Given the description of an element on the screen output the (x, y) to click on. 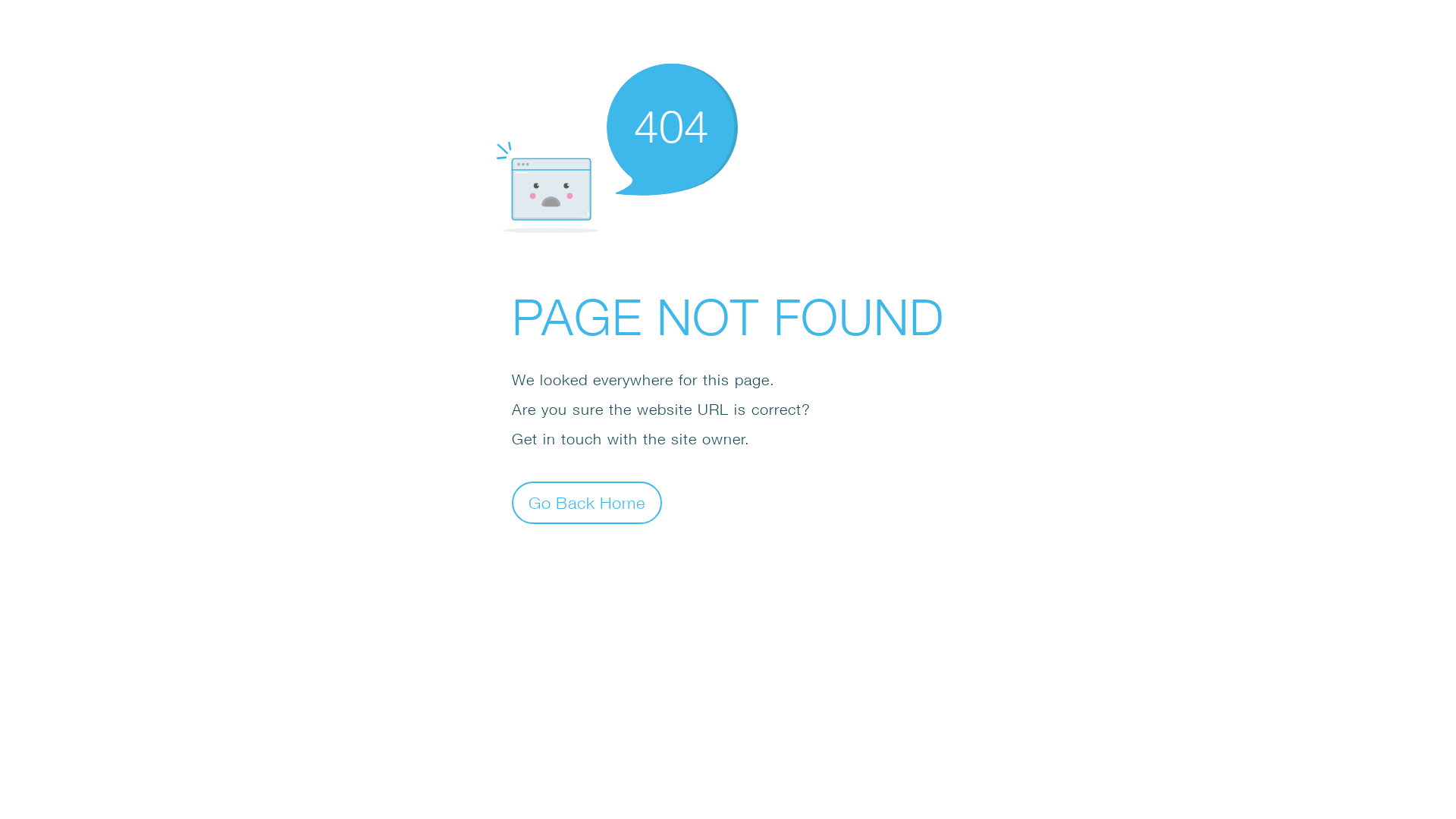
Go Back Home Element type: text (586, 502)
